Given the description of an element on the screen output the (x, y) to click on. 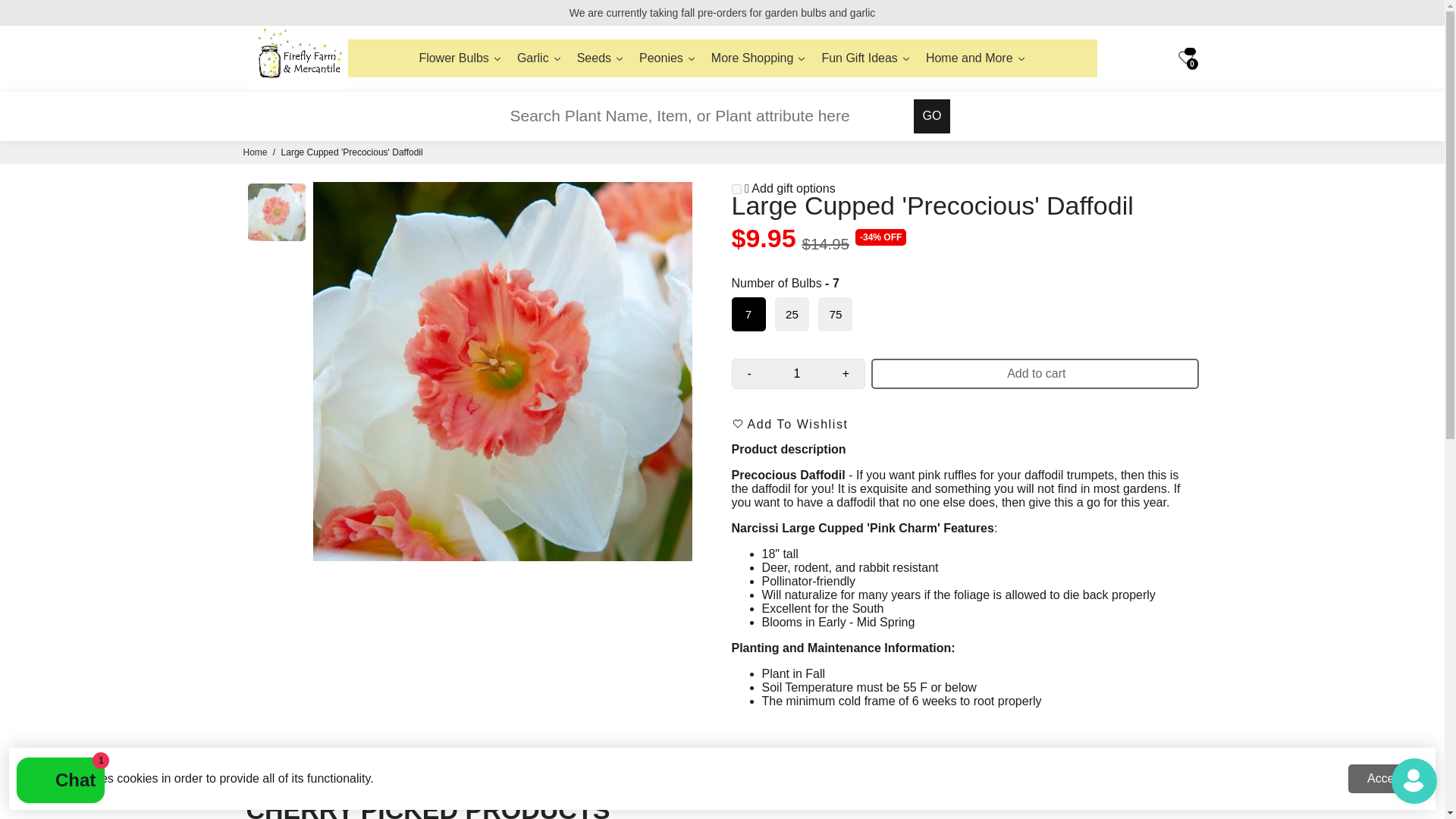
on (735, 189)
Garlic (539, 57)
Fun Gift Ideas (865, 57)
Home and More (975, 57)
Garlic (539, 57)
Home (254, 152)
Shopify online store chat (60, 781)
More Shopping (758, 57)
Seeds (600, 57)
More Shopping (758, 57)
Home and More (975, 57)
1 (797, 373)
Peonies (667, 57)
- (749, 373)
Seeds (600, 57)
